Given the description of an element on the screen output the (x, y) to click on. 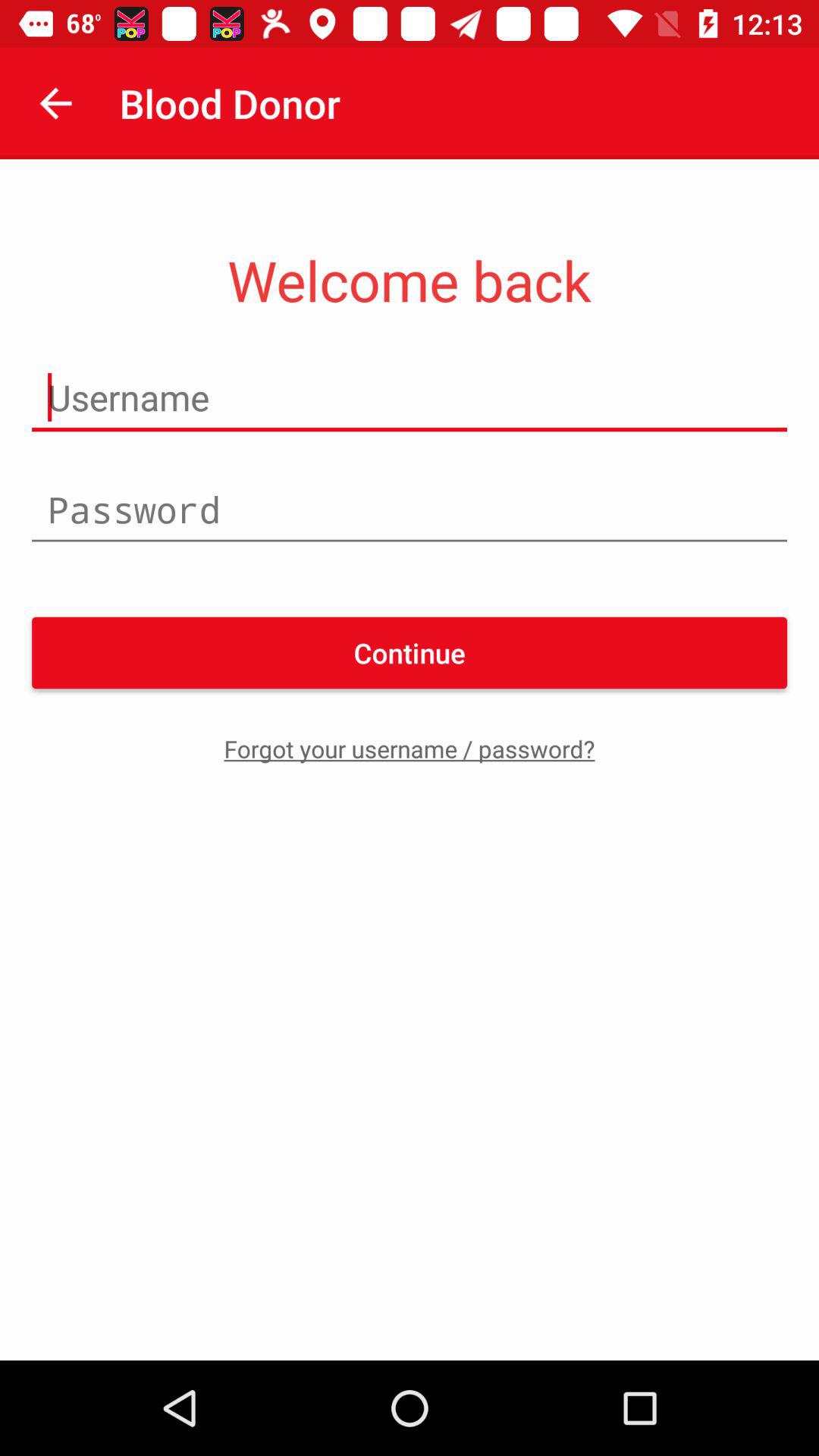
launch the icon below continue (409, 748)
